Given the description of an element on the screen output the (x, y) to click on. 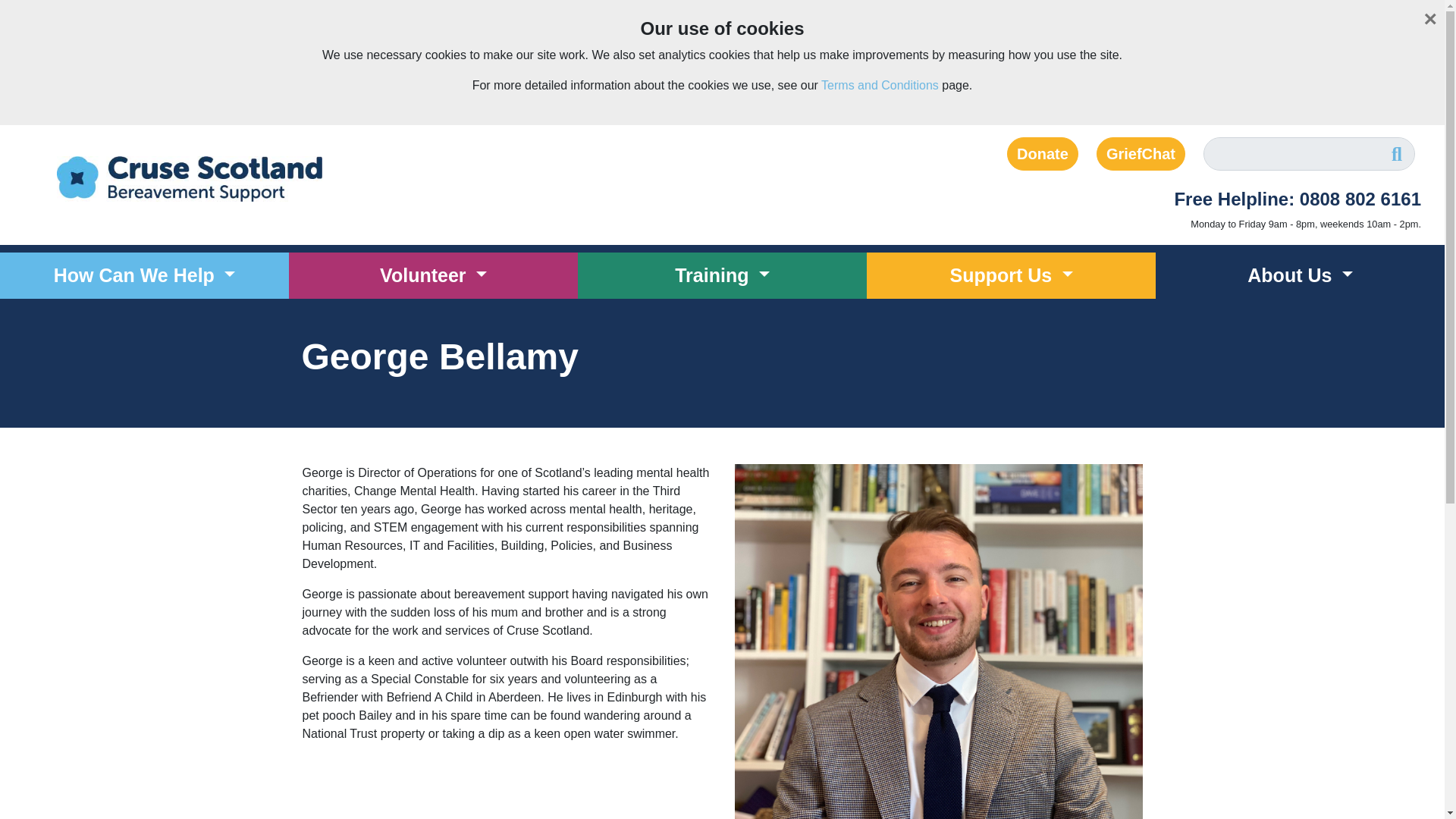
Free Helpline: 0808 802 6161 (1214, 199)
Volunteer (433, 275)
GriefChat (1140, 153)
Training (722, 275)
Support Us (1011, 275)
Terms and Conditions (880, 84)
Donate (1042, 153)
How Can We Help (144, 275)
Terms and Conditions (880, 84)
